Given the description of an element on the screen output the (x, y) to click on. 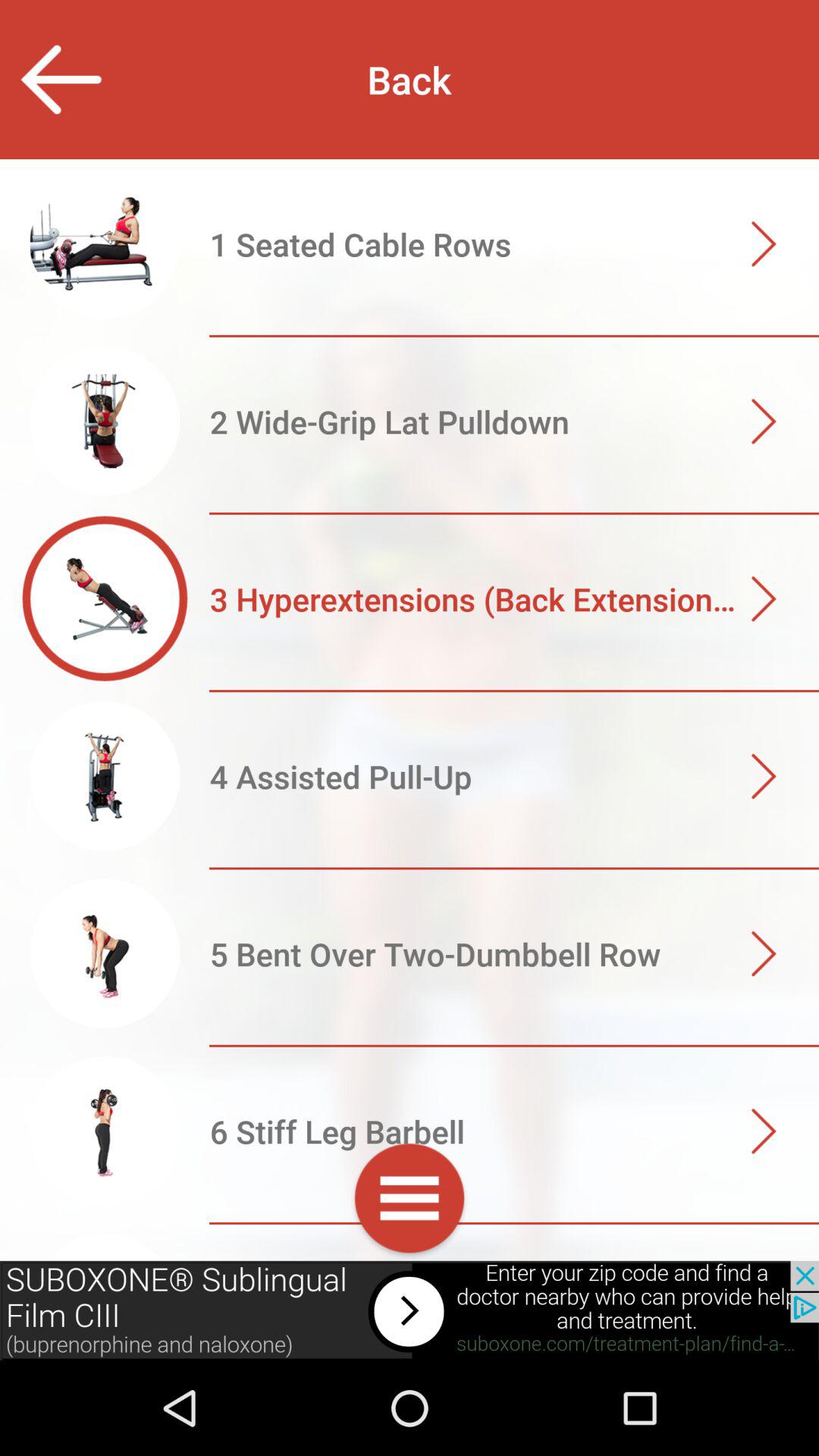
view advertisement (409, 1310)
